Given the description of an element on the screen output the (x, y) to click on. 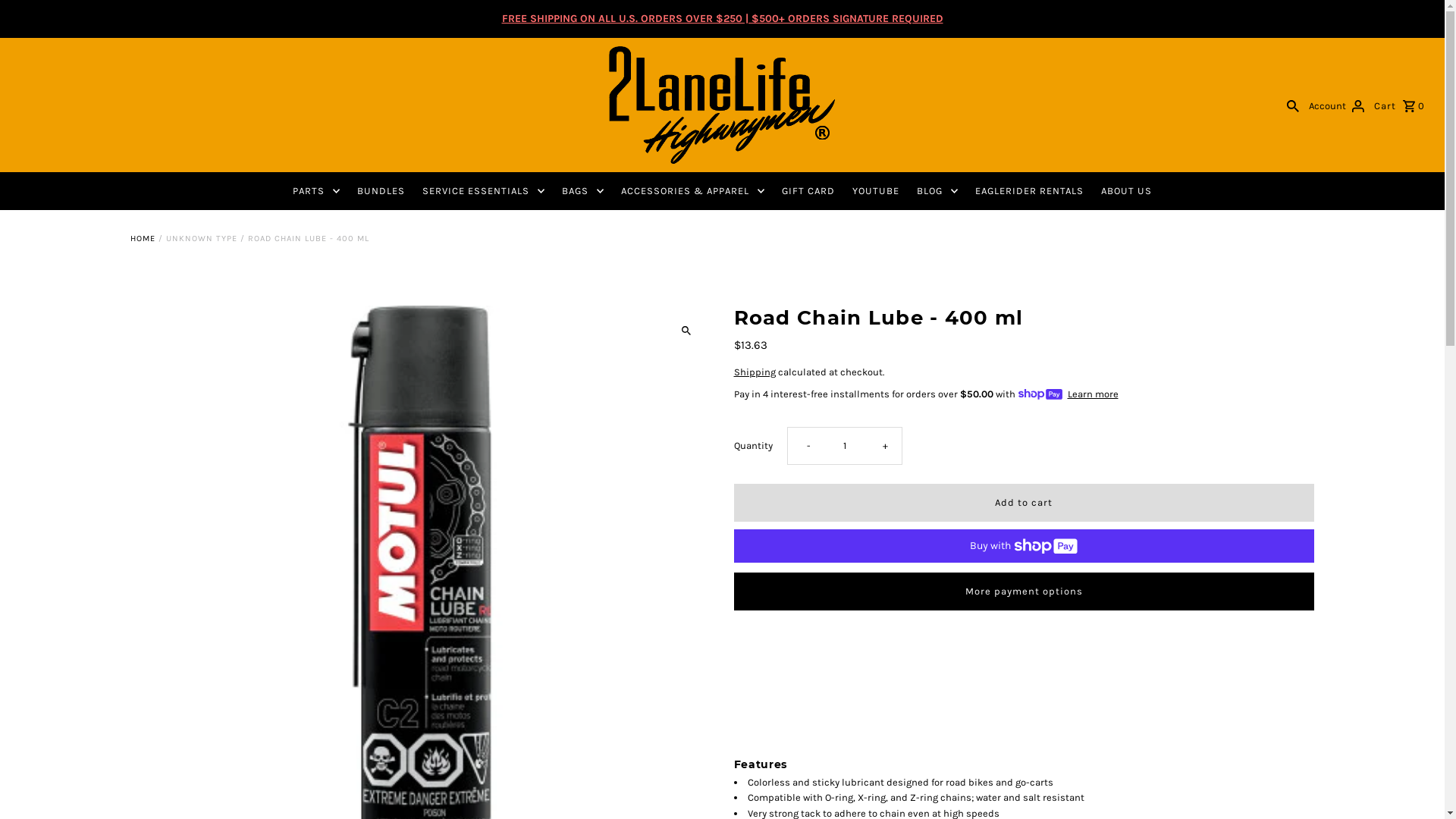
BLOG Element type: text (937, 191)
Shipping Element type: text (754, 371)
Add to cart Element type: text (1024, 502)
PARTS Element type: text (316, 191)
Click to zoom Element type: hover (685, 330)
ABOUT US Element type: text (1126, 191)
HOME Element type: text (142, 238)
YOUTUBE Element type: text (875, 191)
GIFT CARD Element type: text (808, 191)
BAGS Element type: text (582, 191)
EAGLERIDER RENTALS Element type: text (1029, 191)
BUNDLES Element type: text (380, 191)
Increase quantity for Road Chain Lube - 400 ml
+ Element type: text (881, 445)
More payment options Element type: text (1024, 591)
SERVICE ESSENTIALS Element type: text (483, 191)
Decrease quantity for Road Chain Lube - 400 ml
- Element type: text (806, 445)
ACCESSORIES & APPAREL Element type: text (692, 191)
